Given the description of an element on the screen output the (x, y) to click on. 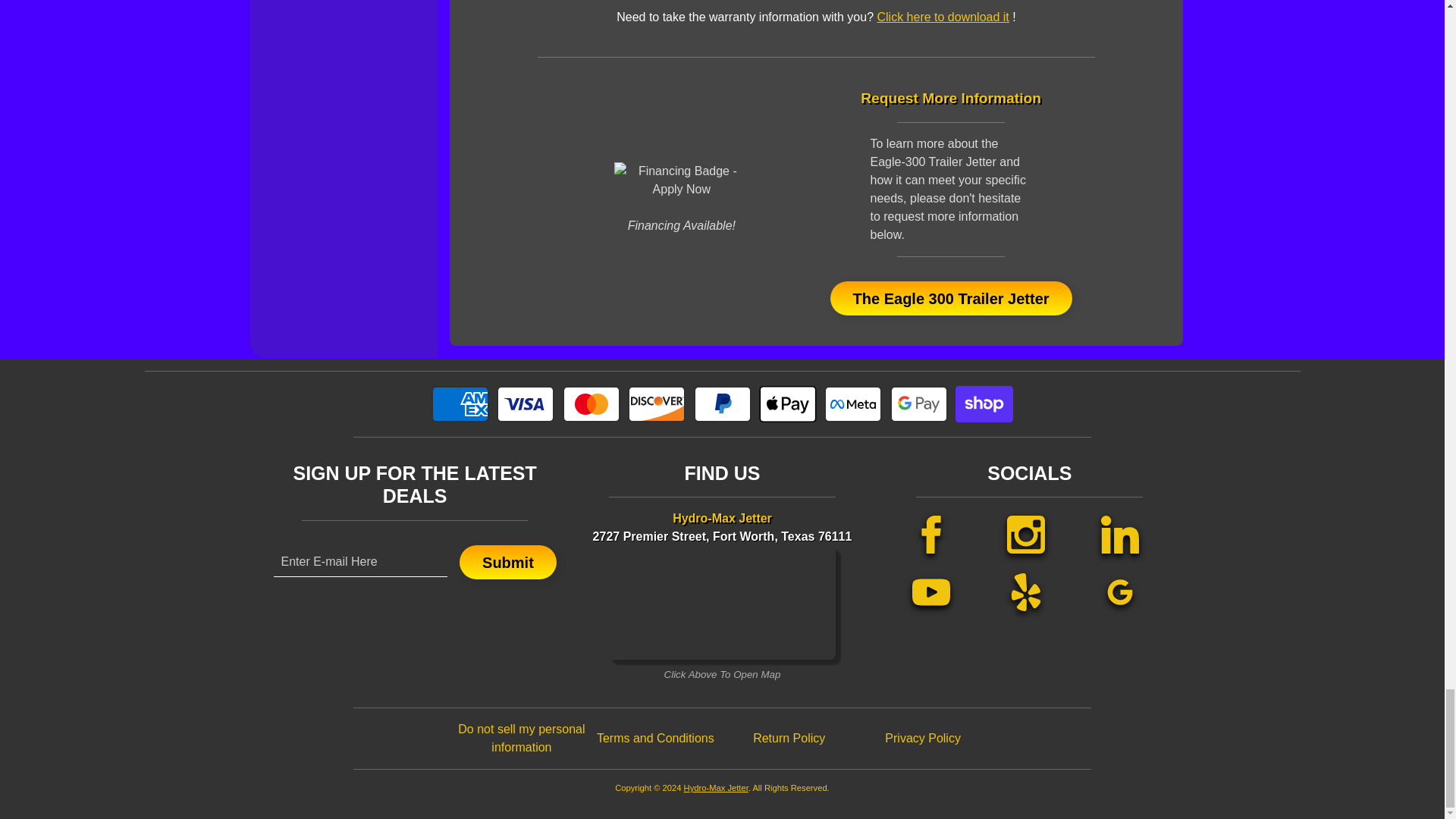
Discover (656, 403)
Find The Warranty Information Here! (942, 16)
PayPal (722, 403)
LinkedIn (1120, 534)
Shop Pay (984, 403)
Facebook (931, 534)
Visa (525, 403)
Find Us Here! (721, 603)
American Express (459, 403)
Meta Pay (853, 403)
